Given the description of an element on the screen output the (x, y) to click on. 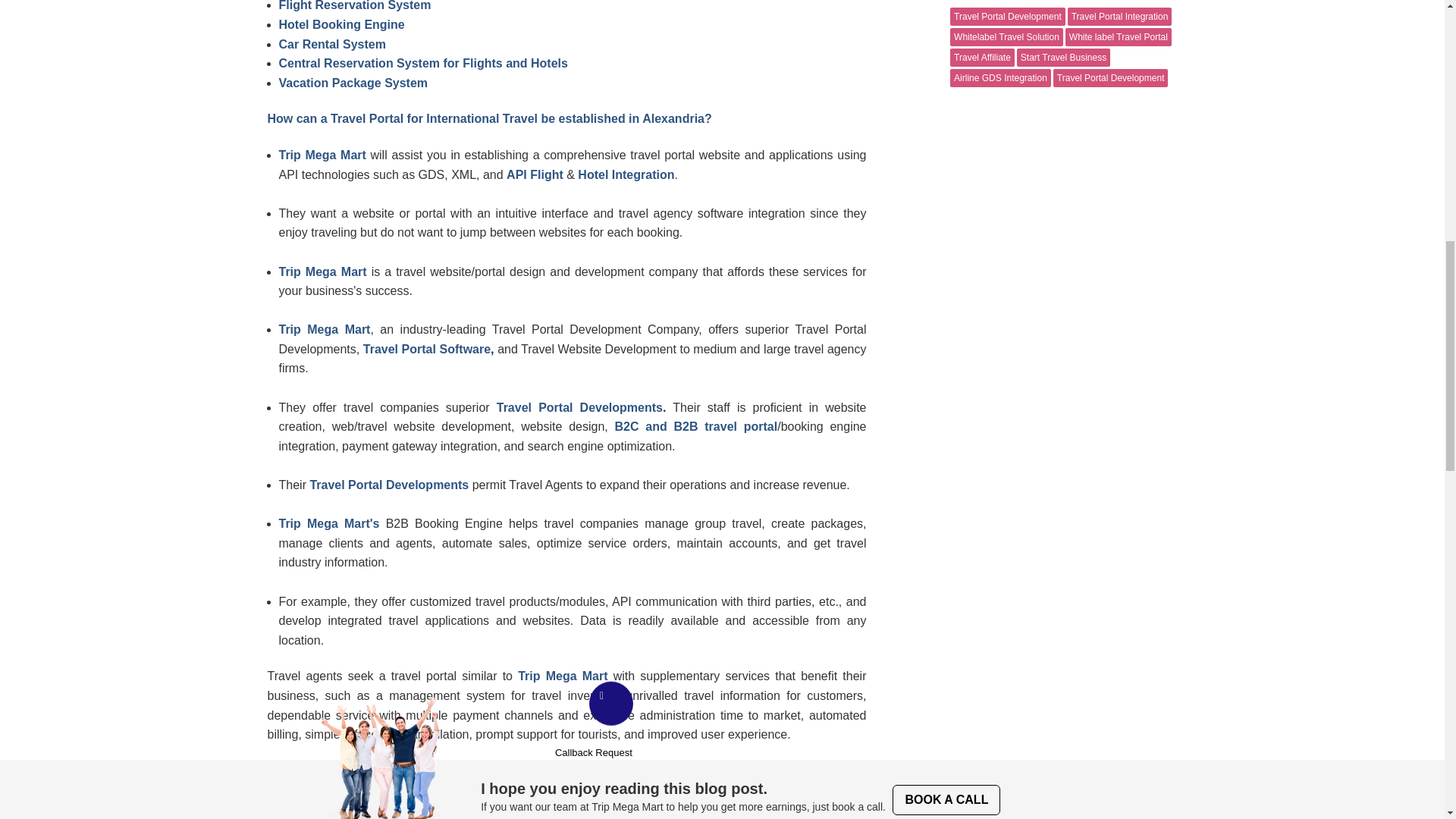
API Flight (534, 174)
Central Reservation System for Flights (390, 62)
Car Rental System (332, 43)
Trip Mega Mart (322, 154)
Trip Mega Mart's (329, 522)
Travel Portal Developments (388, 484)
and Hotels (536, 62)
B2C and B2B travel portal (695, 426)
Trip Mega Mart (325, 328)
Flight Reservation System (354, 5)
Hotel Integration (626, 174)
Travel Portal Developments (579, 407)
Hotel Booking Engine (341, 24)
Travel Portal Software (426, 349)
